Given the description of an element on the screen output the (x, y) to click on. 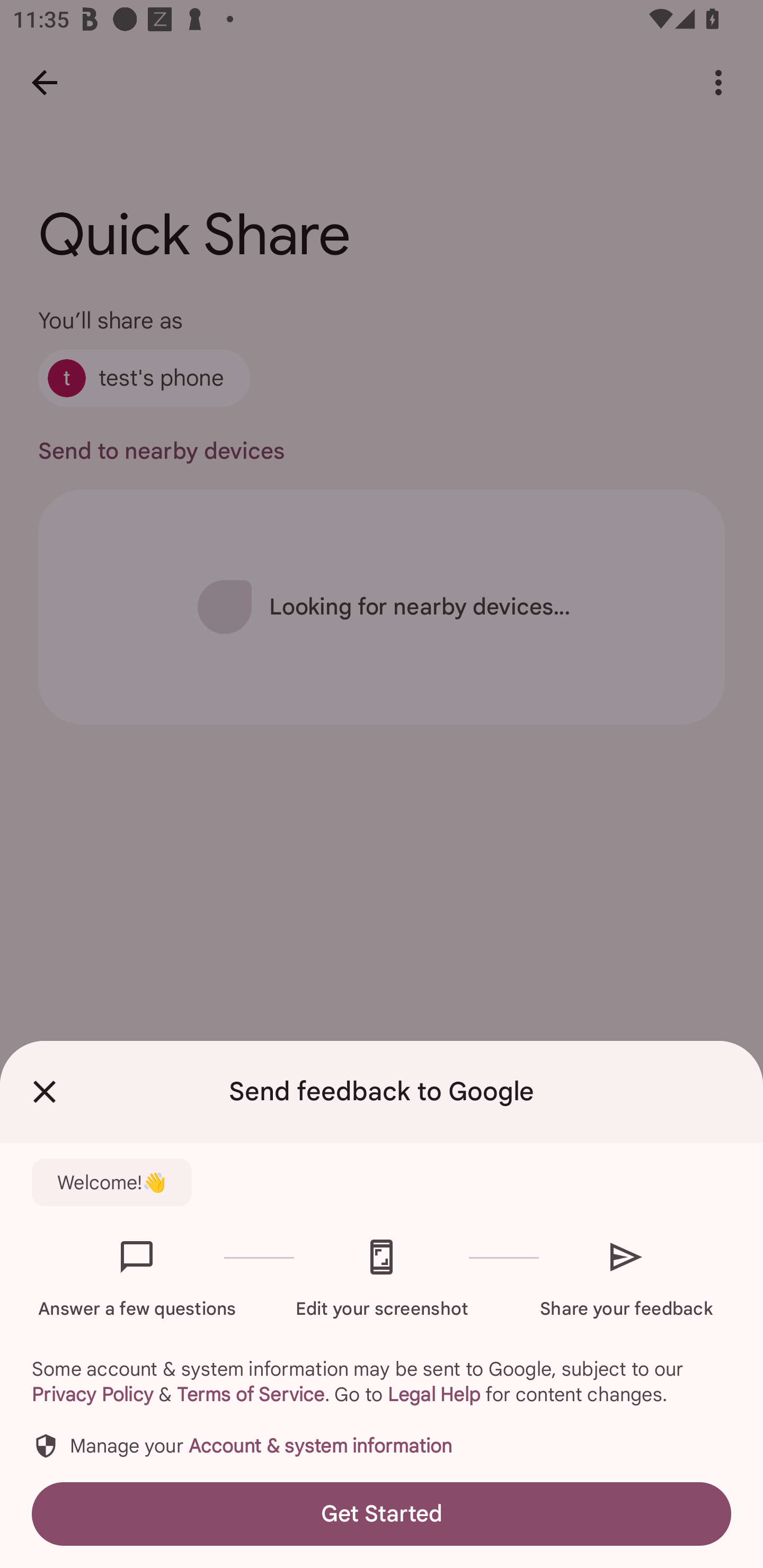
Close Feedback (44, 1091)
Get Started (381, 1513)
